Given the description of an element on the screen output the (x, y) to click on. 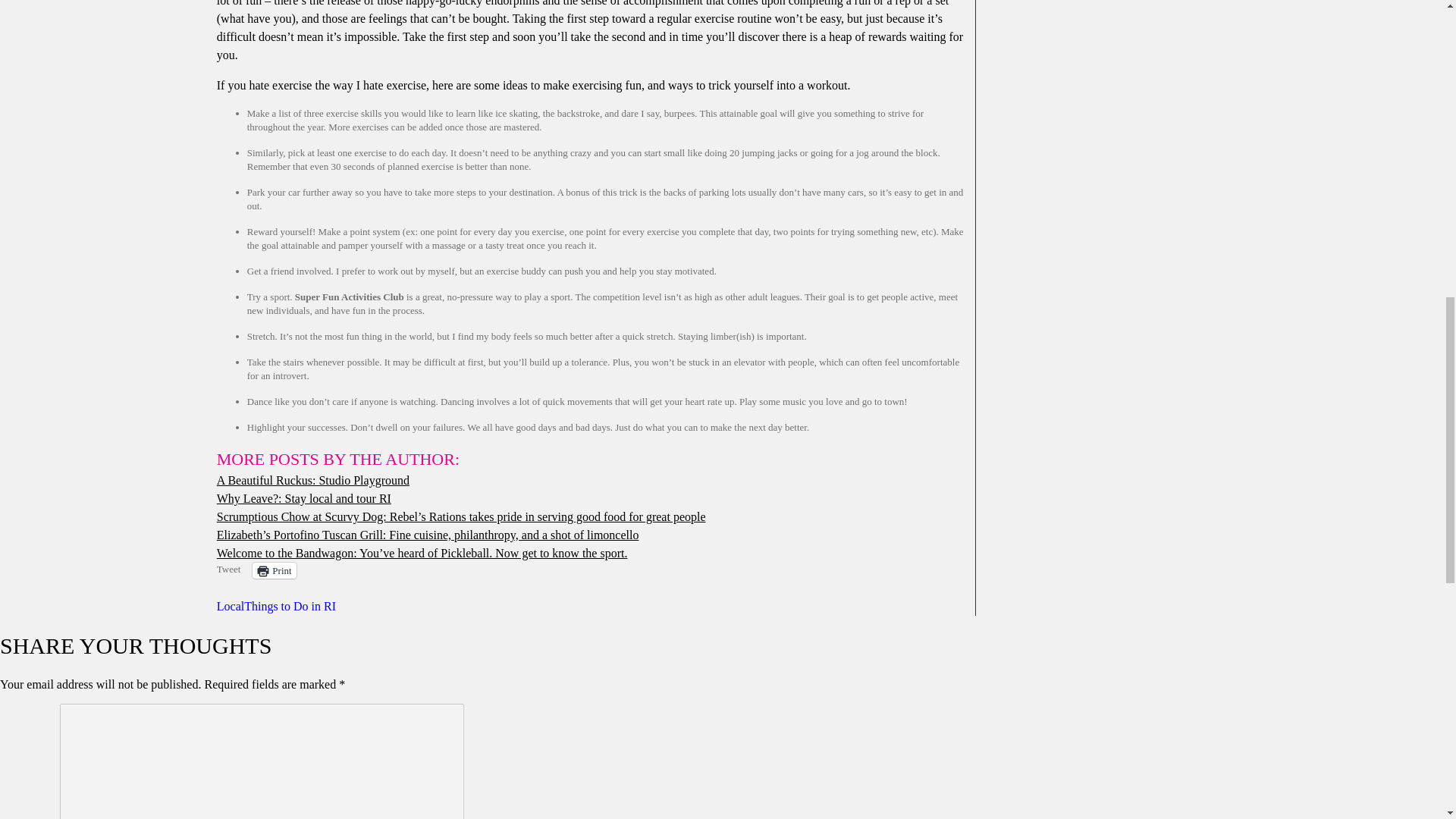
Click to print (273, 570)
